Given the description of an element on the screen output the (x, y) to click on. 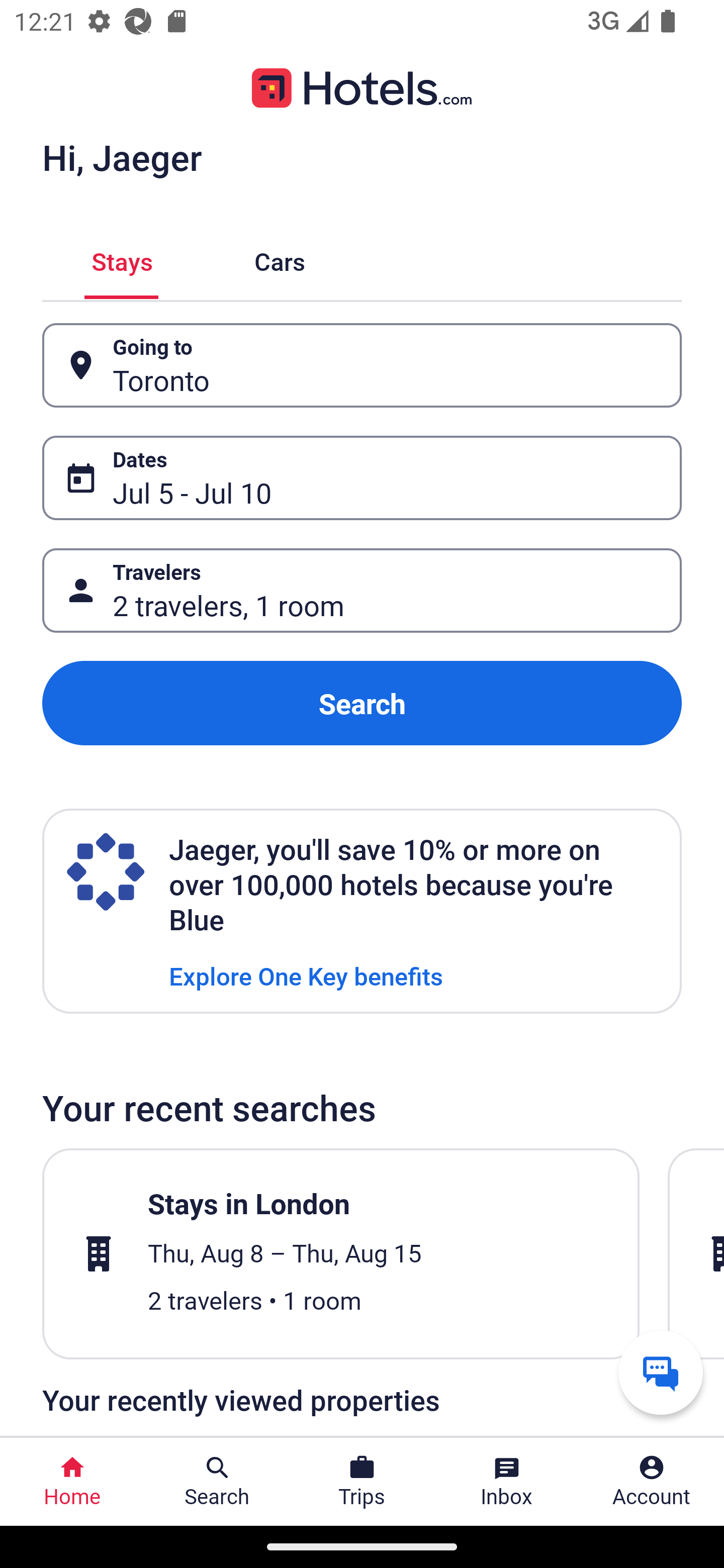
Hi, Jaeger (121, 156)
Cars (279, 259)
Going to Button Toronto (361, 365)
Dates Button Jul 5 - Jul 10 (361, 477)
Travelers Button 2 travelers, 1 room (361, 590)
Search (361, 702)
Get help from a virtual agent (660, 1371)
Search Search Button (216, 1481)
Trips Trips Button (361, 1481)
Inbox Inbox Button (506, 1481)
Account Profile. Button (651, 1481)
